Given the description of an element on the screen output the (x, y) to click on. 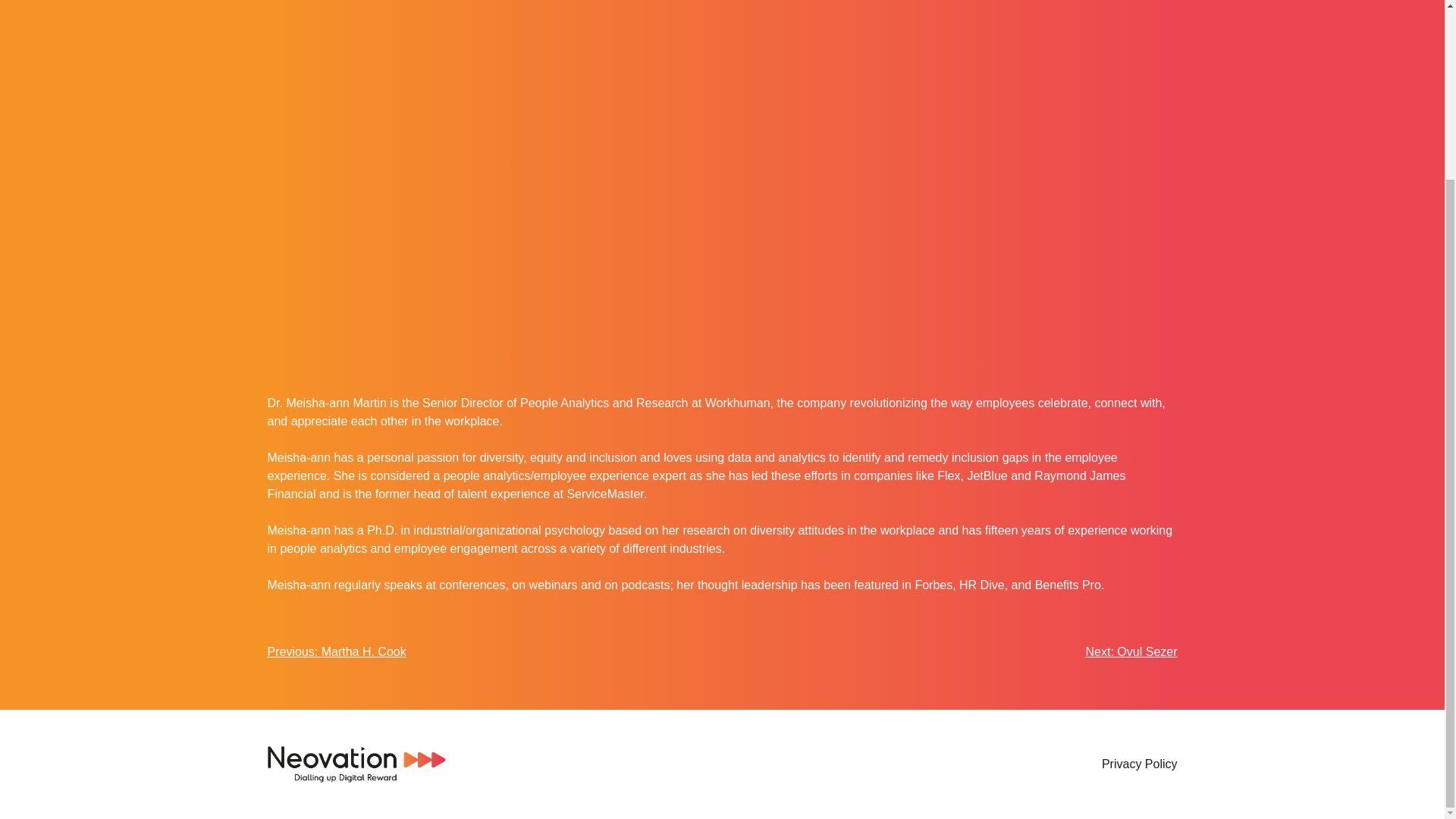
Privacy Policy (1139, 764)
Find us on Facebook (512, 764)
Follow us on Twitter (482, 764)
Previous: Martha H. Cook (336, 651)
Next: Ovul Sezer (1131, 651)
